Given the description of an element on the screen output the (x, y) to click on. 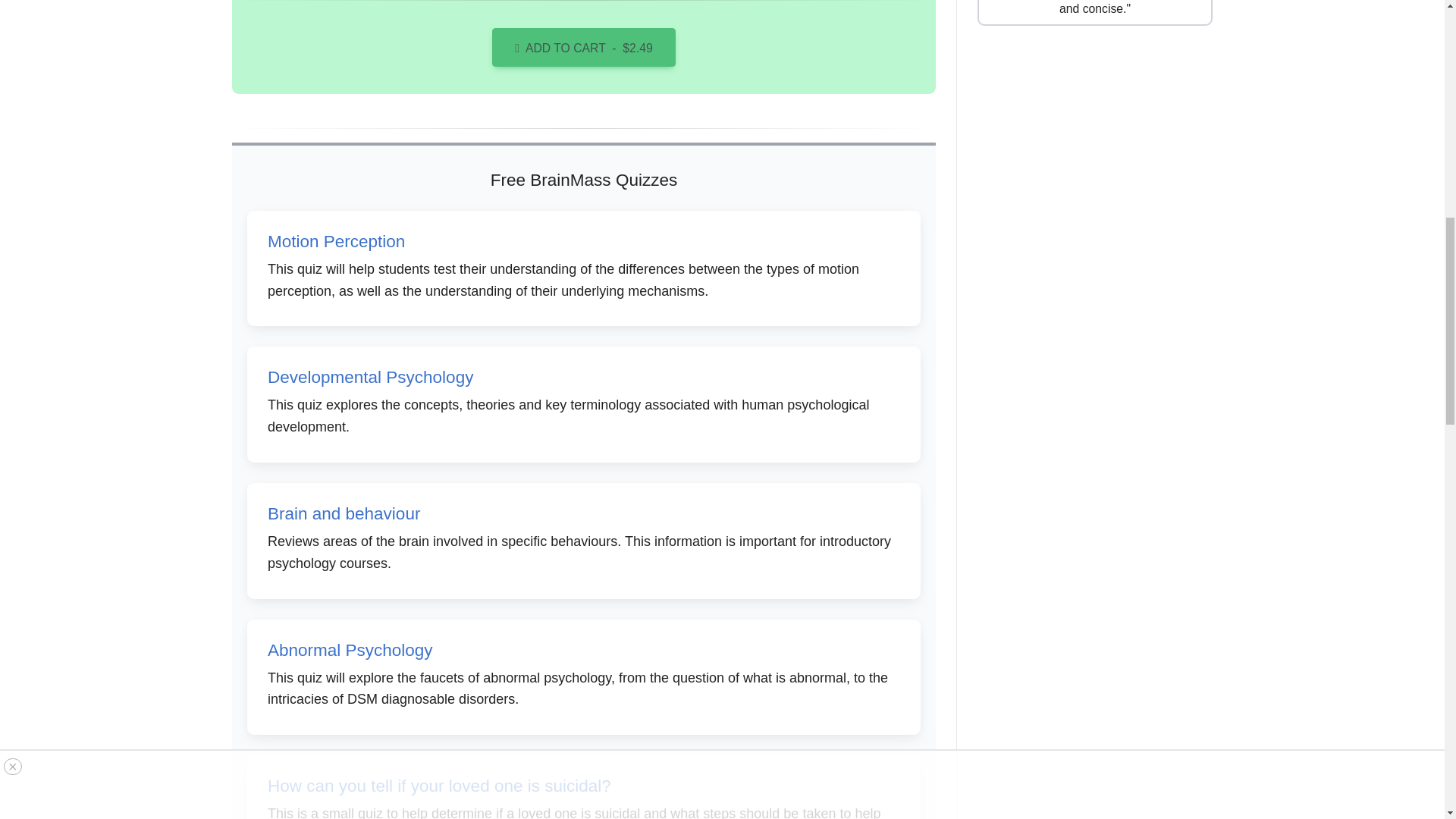
Motion Perception (335, 240)
Brain and behaviour (343, 513)
Abnormal Psychology (349, 650)
Developmental Psychology (370, 376)
How can you tell if your loved one is suicidal? (439, 785)
